Given the description of an element on the screen output the (x, y) to click on. 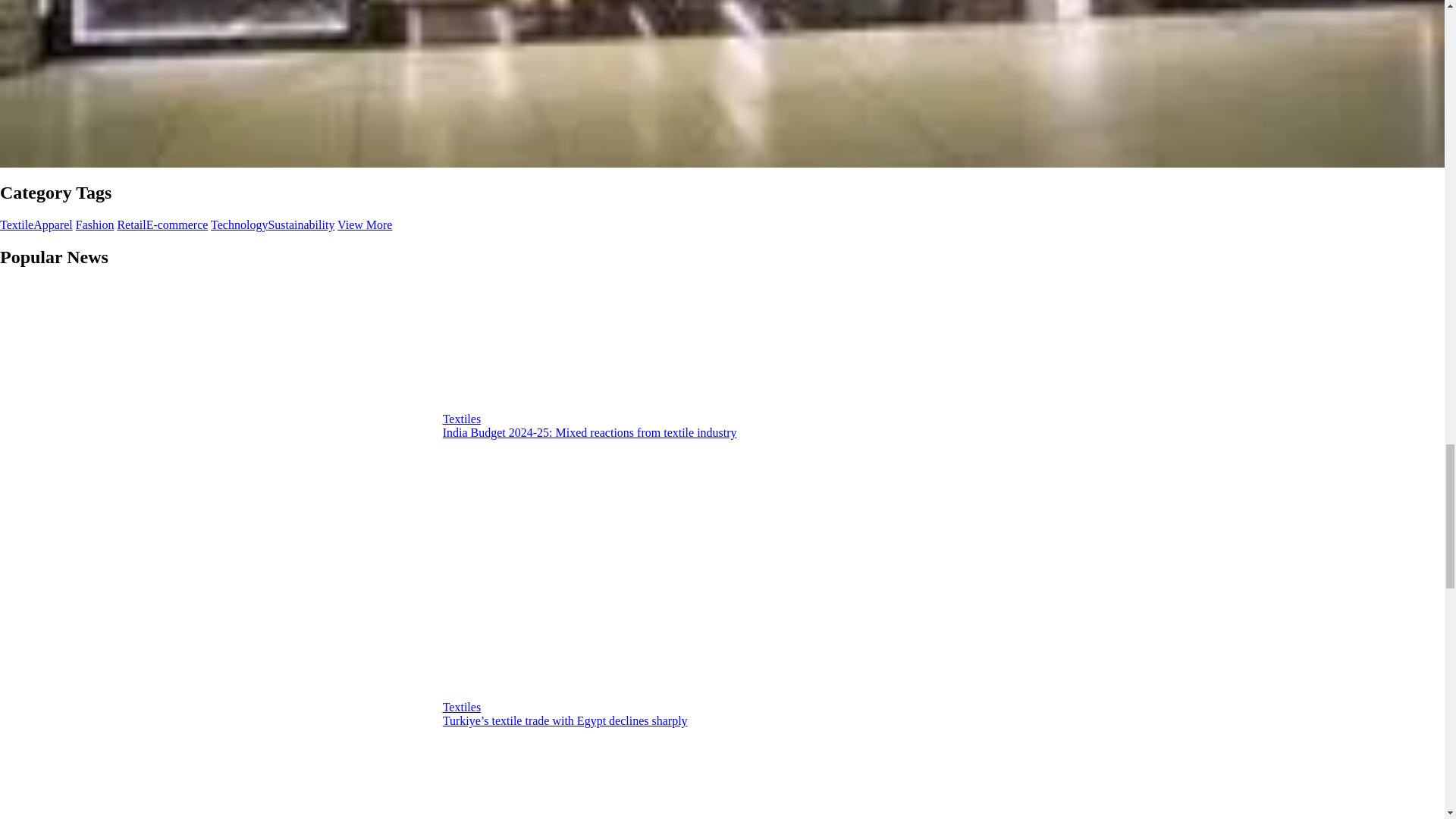
Fashion (95, 224)
Textile (16, 224)
Technology (239, 224)
Retail (130, 224)
Apparel (52, 224)
E-commerce (177, 224)
